Given the description of an element on the screen output the (x, y) to click on. 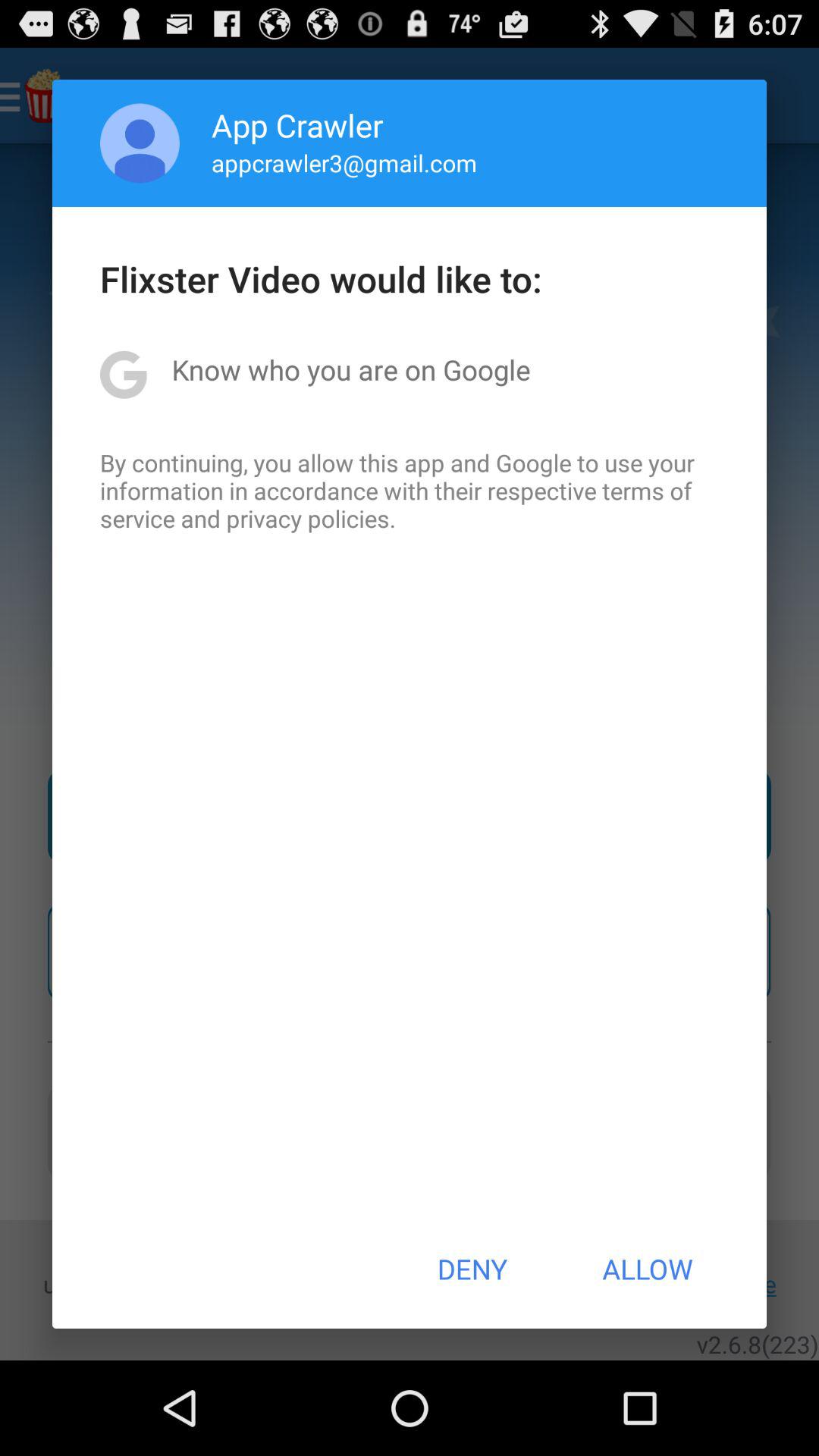
select the icon above appcrawler3@gmail.com (297, 124)
